Given the description of an element on the screen output the (x, y) to click on. 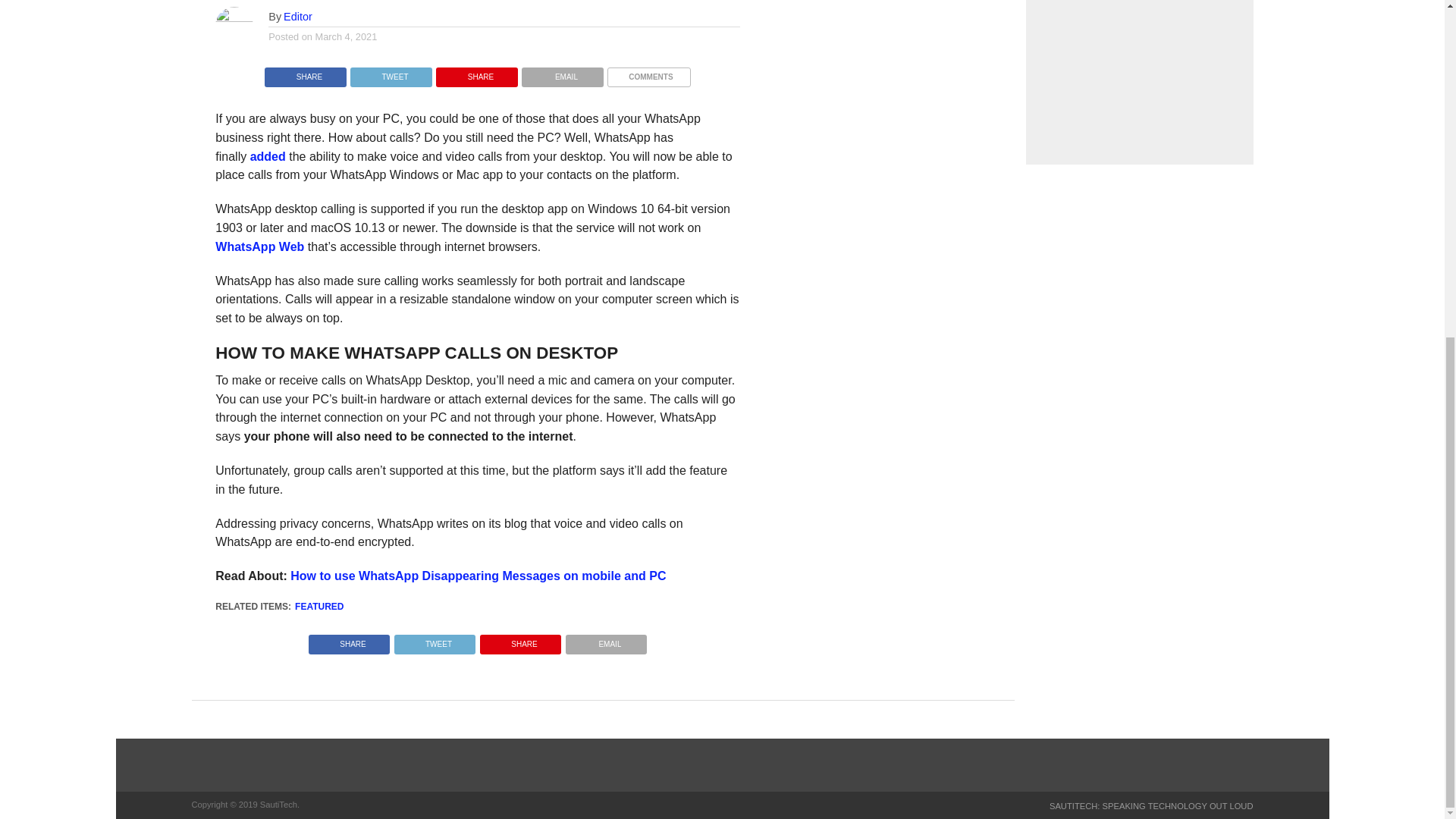
Share on Facebook (305, 72)
COMMENTS (648, 72)
WhatsApp Web (259, 246)
TWEET (434, 640)
EMAIL (605, 640)
Editor (298, 16)
TWEET (390, 72)
Tweet This Post (390, 72)
SHARE (305, 72)
Tweet This Post (434, 640)
SAUTITECH: SPEAKING TECHNOLOGY OUT LOUD (1151, 805)
Advertisement (1138, 82)
EMAIL (562, 72)
SHARE (349, 640)
FEATURED (319, 606)
